Given the description of an element on the screen output the (x, y) to click on. 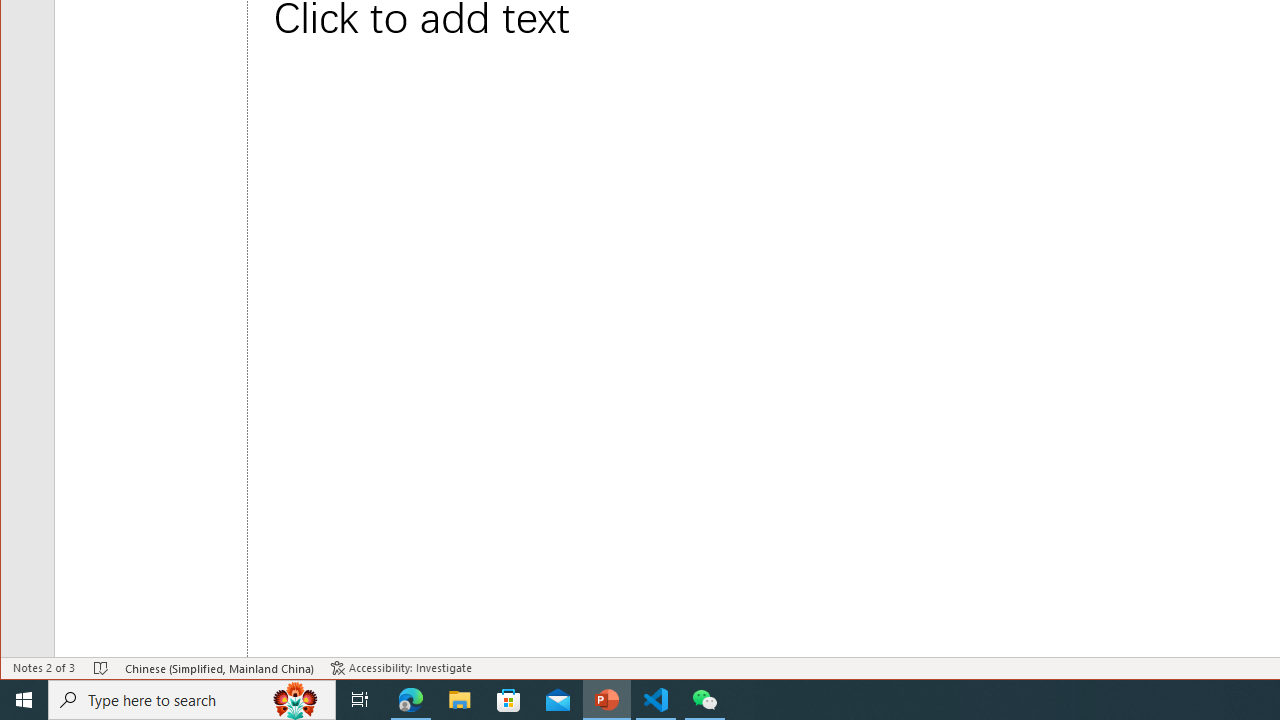
Microsoft Store (509, 699)
WeChat - 1 running window (704, 699)
Task View (359, 699)
Search highlights icon opens search home window (295, 699)
File Explorer (460, 699)
Microsoft Edge - 1 running window (411, 699)
PowerPoint - 1 running window (607, 699)
Visual Studio Code - 1 running window (656, 699)
Type here to search (191, 699)
